Given the description of an element on the screen output the (x, y) to click on. 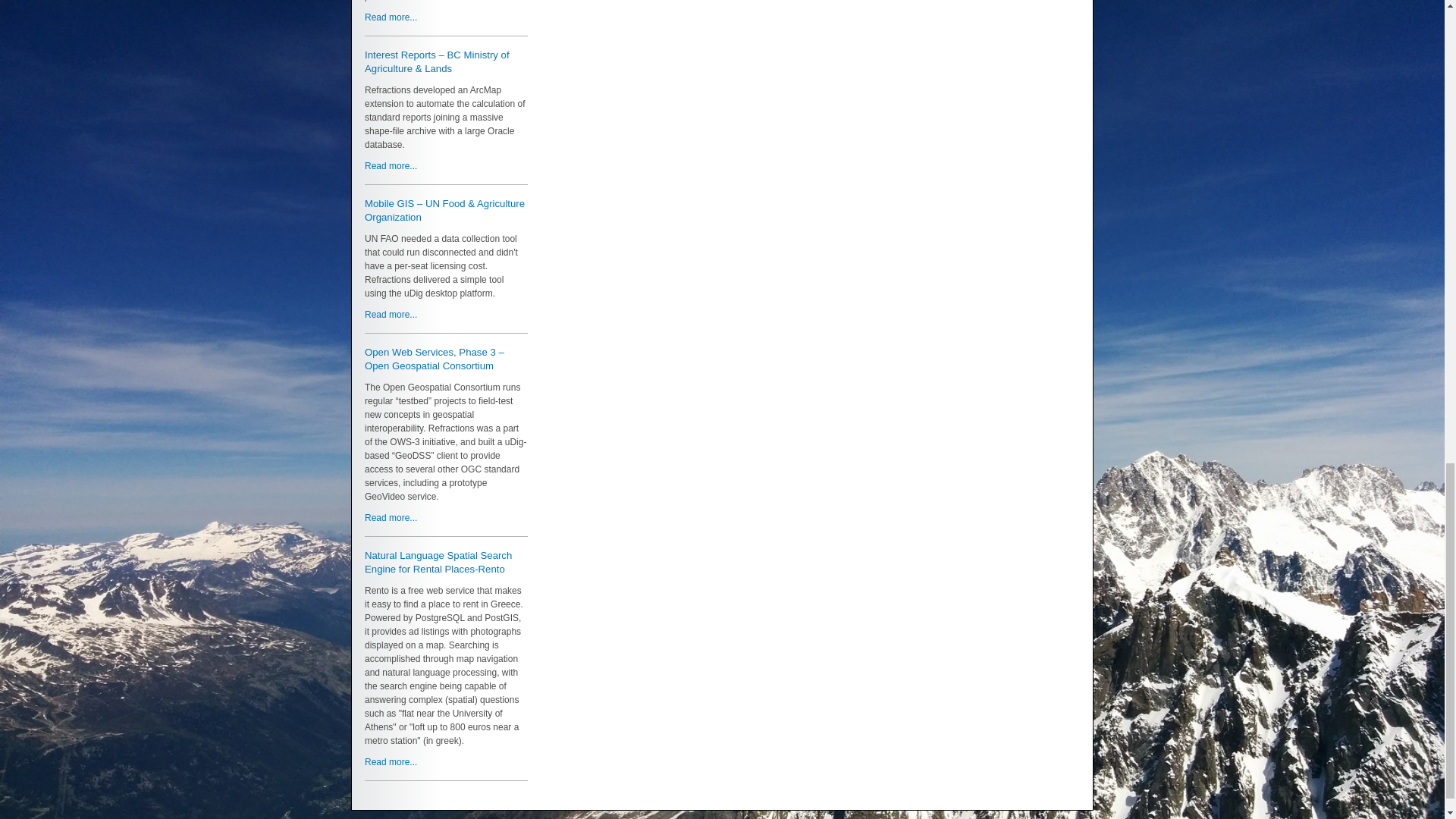
Read more... (390, 517)
Read more... (390, 17)
Read more... (390, 761)
Read more... (390, 314)
Read more... (390, 165)
